Given the description of an element on the screen output the (x, y) to click on. 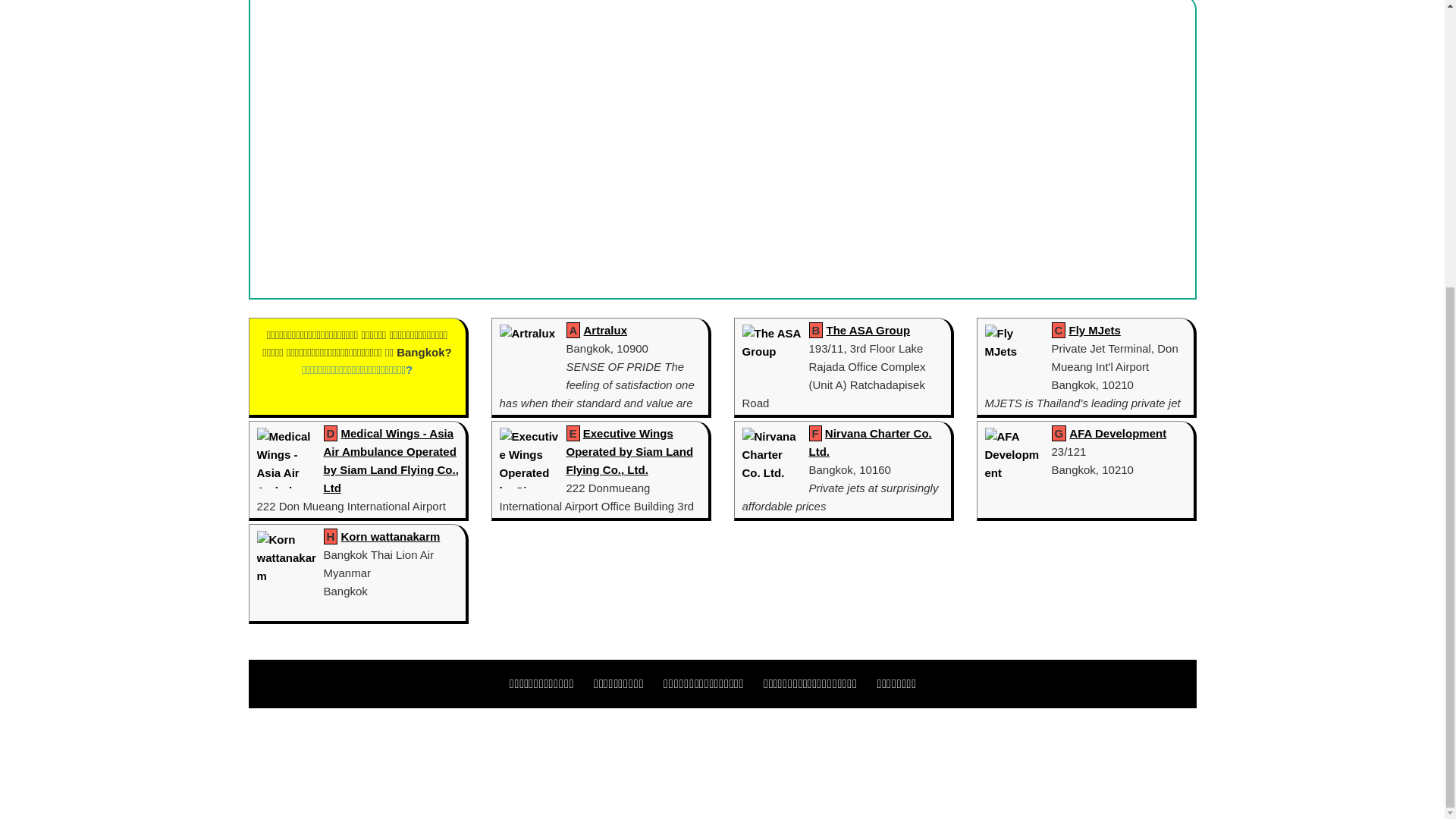
Executive Wings Operated by Siam Land Flying Co., Ltd. (629, 450)
Fly MJets (1094, 329)
The ASA Group (869, 329)
Nirvana Charter Co. Ltd. (869, 441)
AFA Development (1117, 432)
Korn wattanakarm (390, 535)
Artralux (605, 329)
